Given the description of an element on the screen output the (x, y) to click on. 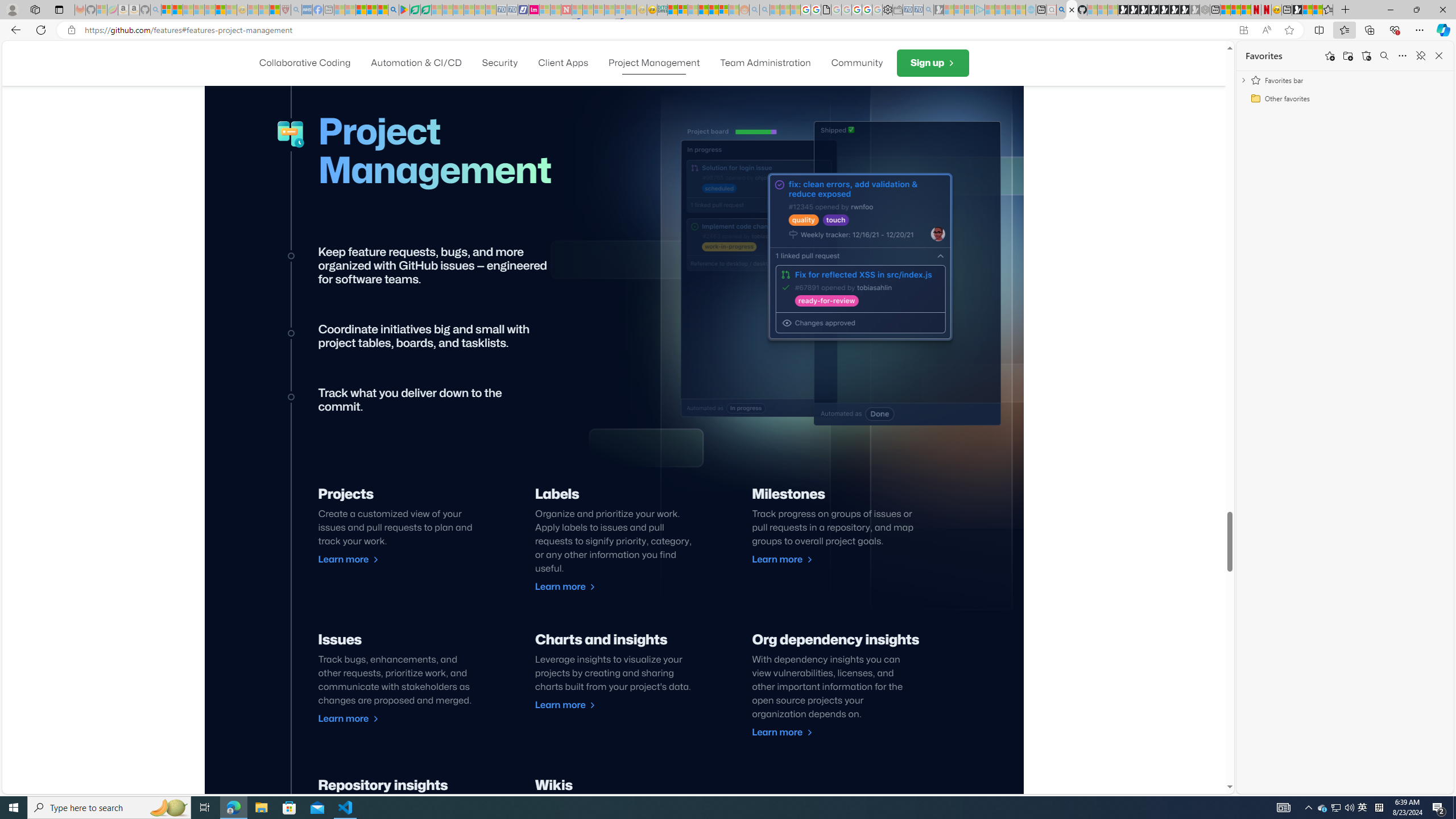
Personal Profile (12, 9)
Wallet - Sleeping (897, 9)
Address and search bar (658, 29)
DITOGAMES AG Imprint (662, 9)
Home | Sky Blue Bikes - Sky Blue Bikes - Sleeping (1030, 9)
Play Free Online Games | Games from Microsoft Start (1122, 9)
Bluey: Let's Play! - Apps on Google Play (404, 9)
14 Common Myths Debunked By Scientific Facts - Sleeping (588, 9)
Collections (1369, 29)
Copilot (Ctrl+Shift+.) (1442, 29)
MSNBC - MSN - Sleeping (339, 9)
